Given the description of an element on the screen output the (x, y) to click on. 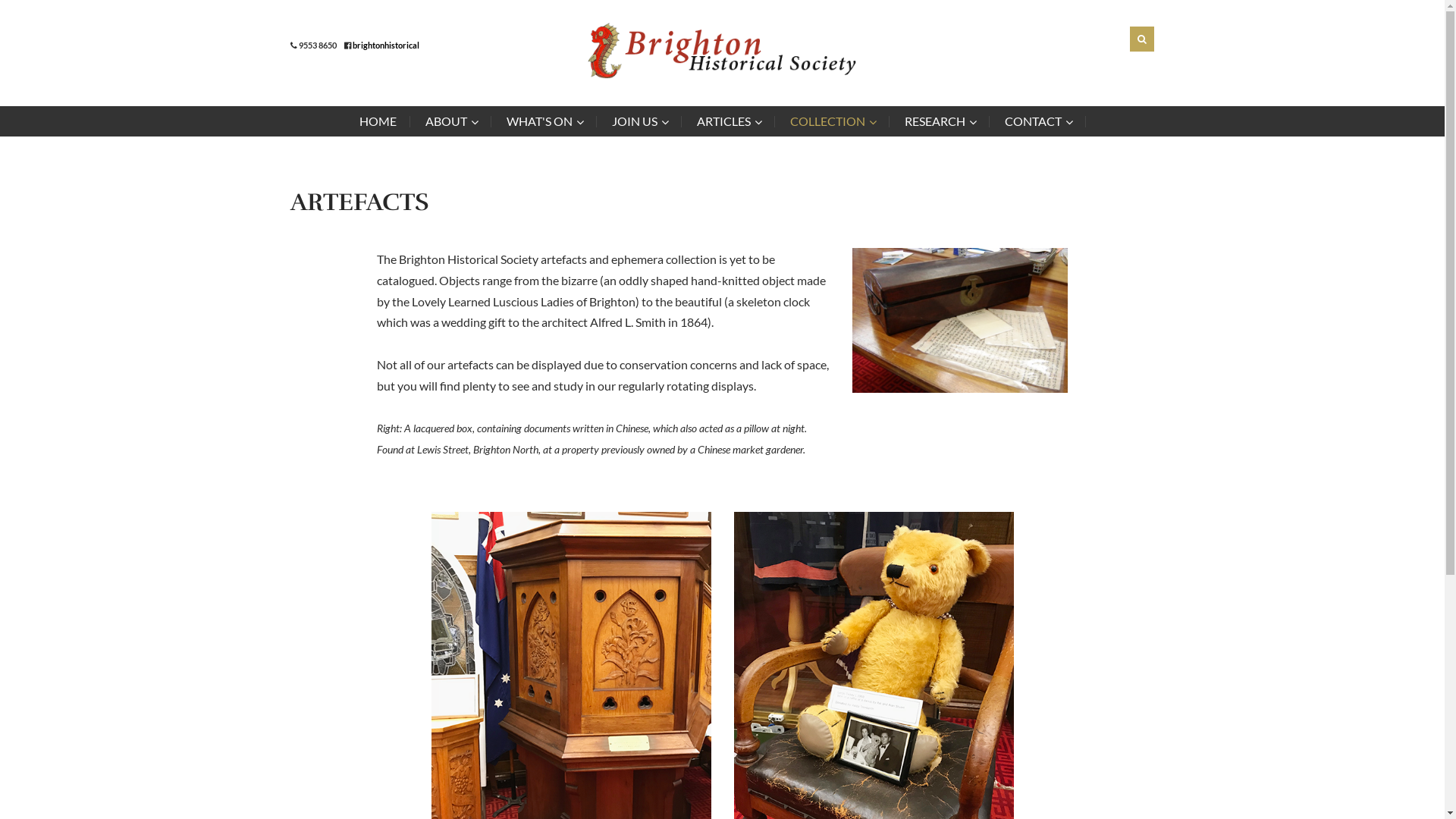
brightonhistorical Element type: text (384, 45)
CONTACT Element type: text (1036, 121)
COLLECTION Element type: text (832, 121)
RESEARCH Element type: text (938, 121)
WHAT'S ON Element type: text (543, 121)
ABOUT Element type: text (449, 121)
Brighton Historical Society Element type: hover (721, 50)
HOME Element type: text (384, 121)
JOIN US Element type: text (638, 121)
ARTICLES Element type: text (727, 121)
